Given the description of an element on the screen output the (x, y) to click on. 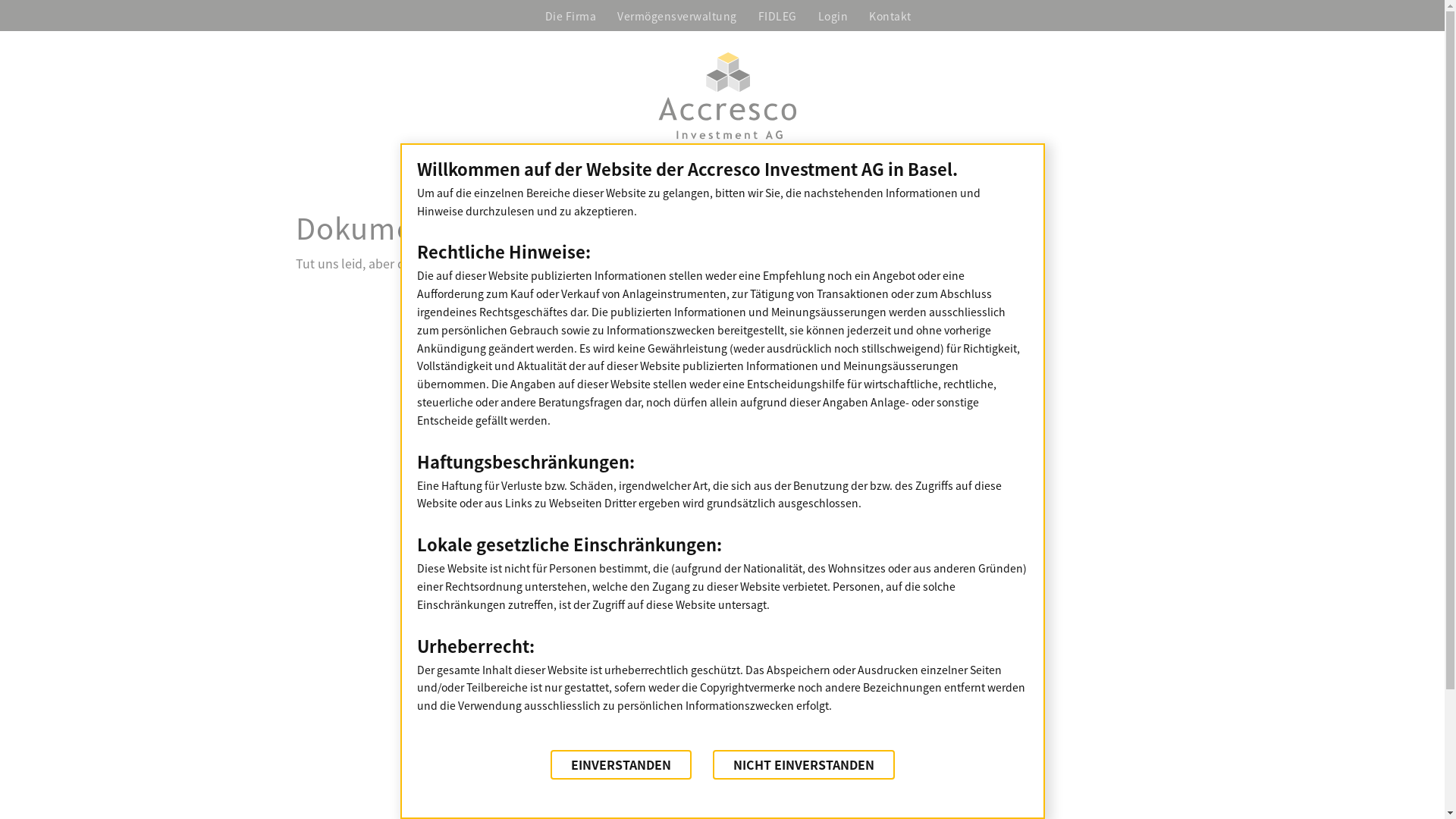
NICHT EINVERSTANDEN Element type: text (803, 764)
Login Element type: text (832, 15)
info@accresco.ch Element type: text (888, 281)
Zum Inhalt springen Element type: text (11, 31)
+41 61 283 50 00 Element type: text (796, 281)
FIDLEG Element type: text (777, 15)
Impressum, Datenschutz Element type: text (727, 304)
Die Firma Element type: text (570, 15)
Kontakt Element type: text (890, 15)
